Given the description of an element on the screen output the (x, y) to click on. 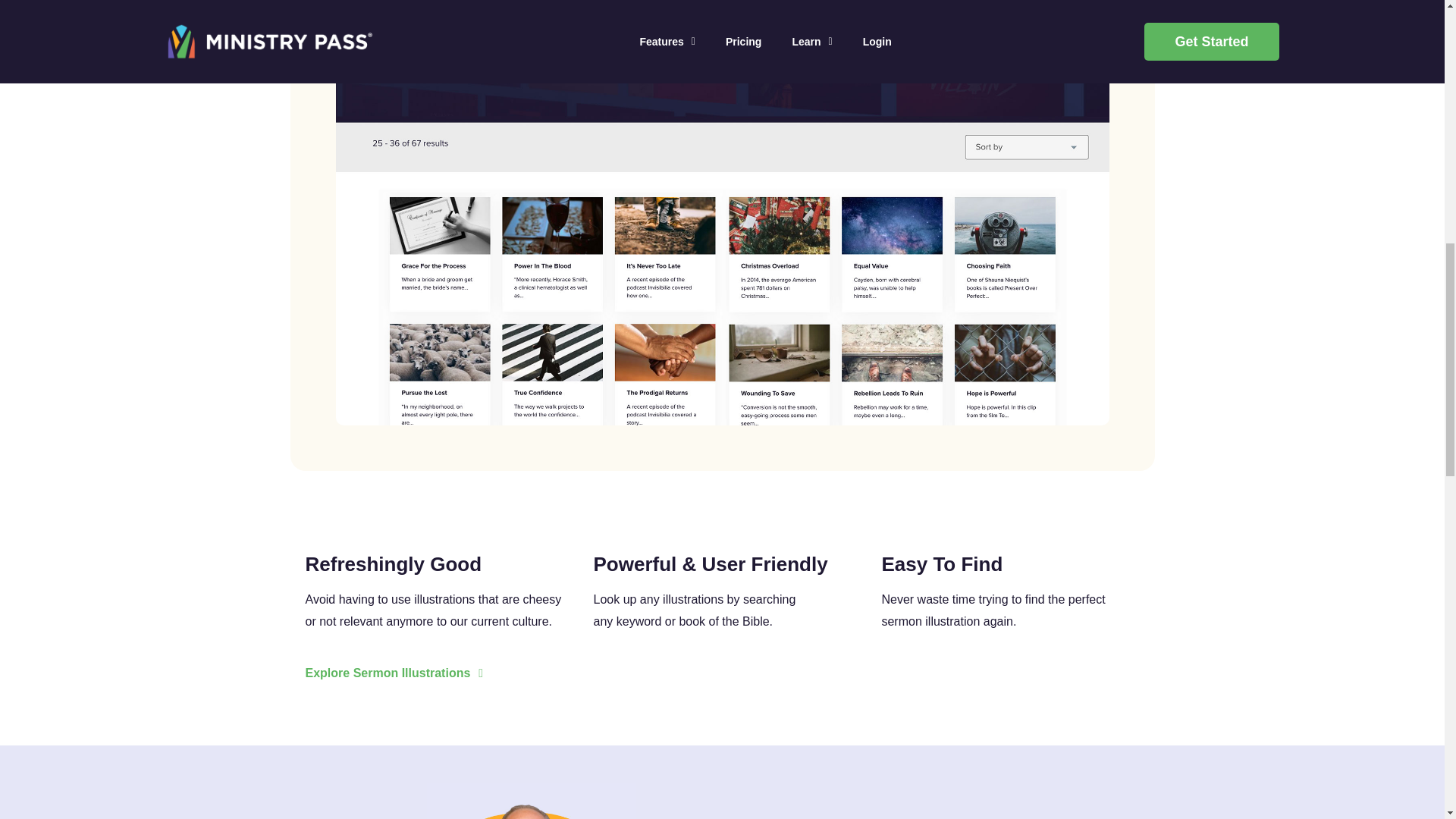
Explore Sermon Illustrations (393, 673)
